Given the description of an element on the screen output the (x, y) to click on. 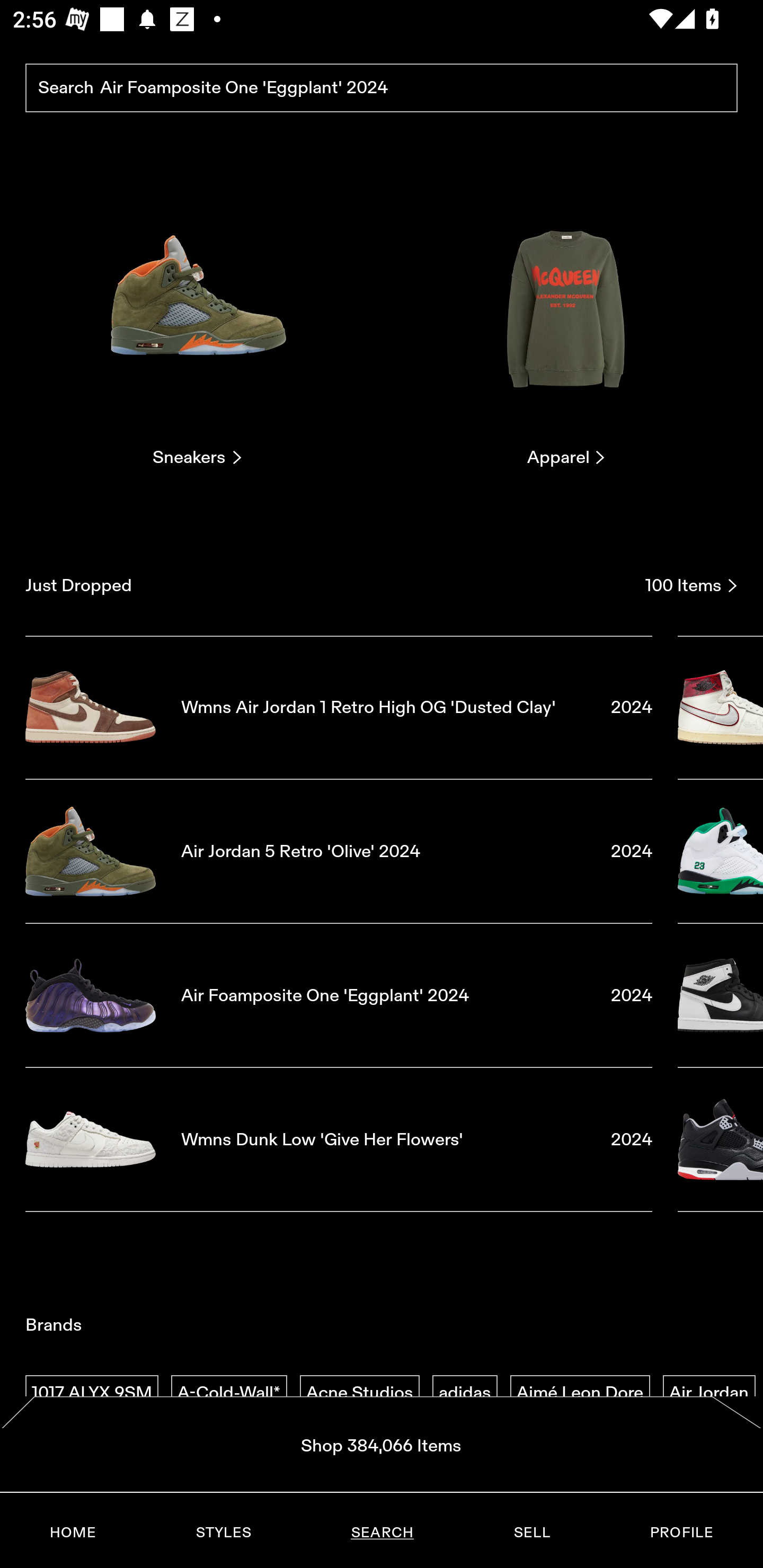
Search (381, 88)
Sneakers (196, 323)
Apparel (565, 323)
Just Dropped (328, 585)
100 Items (691, 585)
Wmns Air Jordan 1 Retro High OG 'Dusted Clay' 2024 (338, 707)
Air Jordan 5 Retro 'Olive' 2024 2024 (338, 851)
Air Foamposite One 'Eggplant' 2024 2024 (338, 995)
Wmns Dunk Low 'Give Her Flowers' 2024 (338, 1139)
1017 ALYX 9SM (91, 1393)
A-Cold-Wall* (228, 1393)
Acne Studios (359, 1393)
adidas (464, 1393)
Aimé Leon Dore (580, 1393)
Air Jordan (709, 1393)
HOME (72, 1532)
STYLES (222, 1532)
SEARCH (381, 1532)
SELL (531, 1532)
PROFILE (681, 1532)
